Given the description of an element on the screen output the (x, y) to click on. 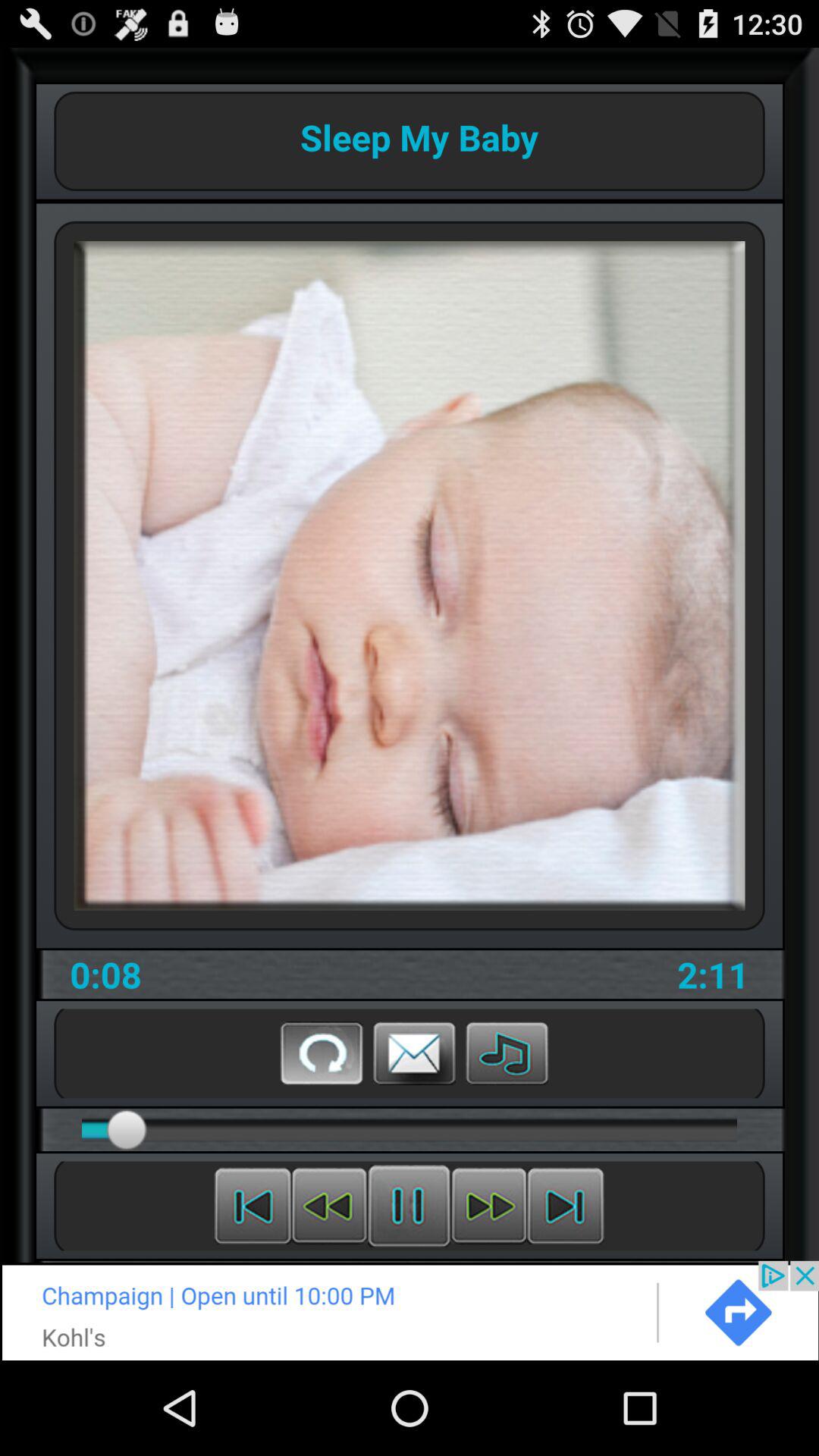
replay sound (321, 1053)
